Given the description of an element on the screen output the (x, y) to click on. 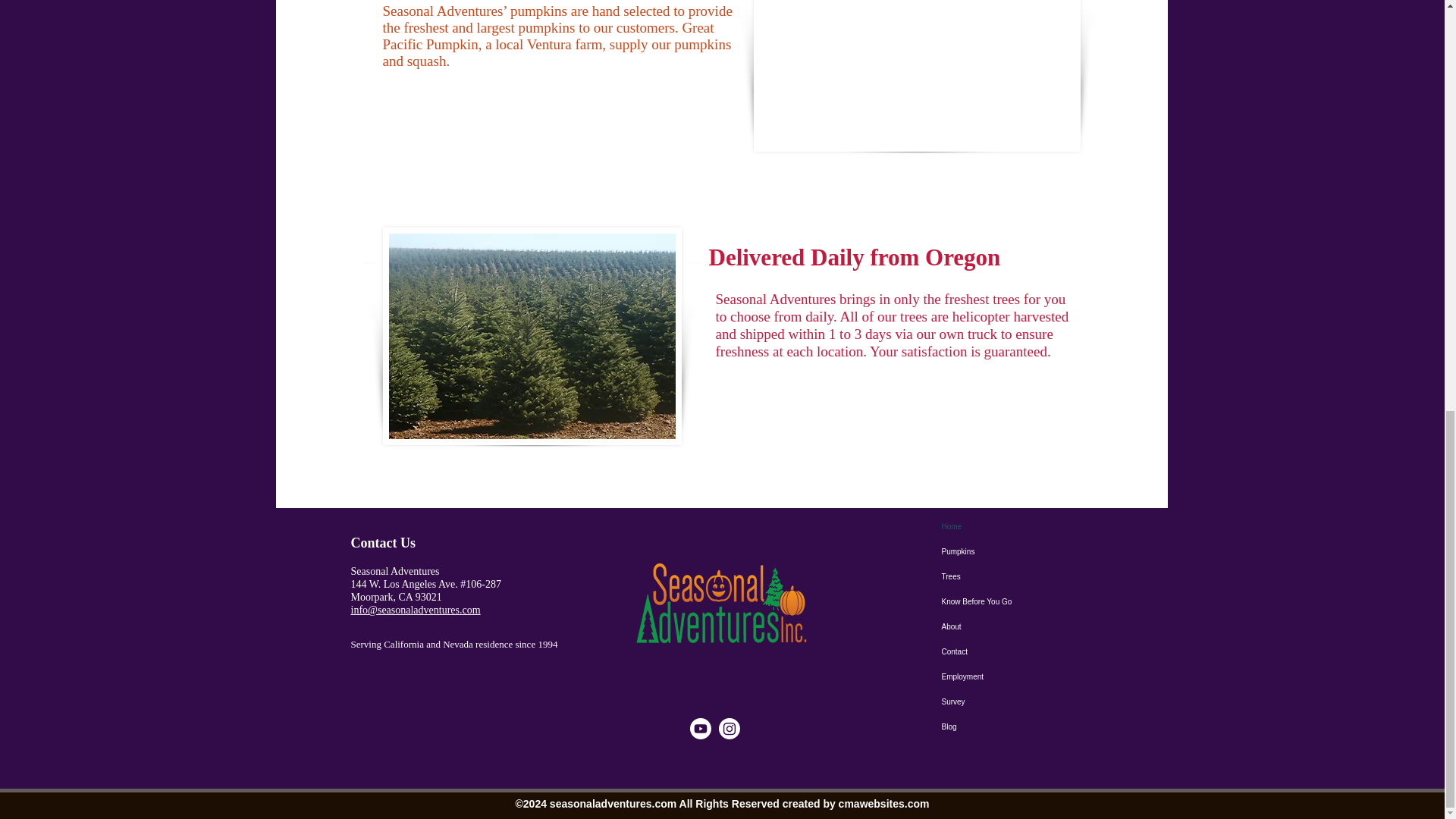
Pumpkins (1018, 551)
Contact (1018, 651)
Home (1018, 526)
Blog (1018, 726)
Employment (1018, 676)
Trees (1018, 576)
Survey (1018, 701)
About (1018, 626)
Know Before You Go (1018, 601)
